Given the description of an element on the screen output the (x, y) to click on. 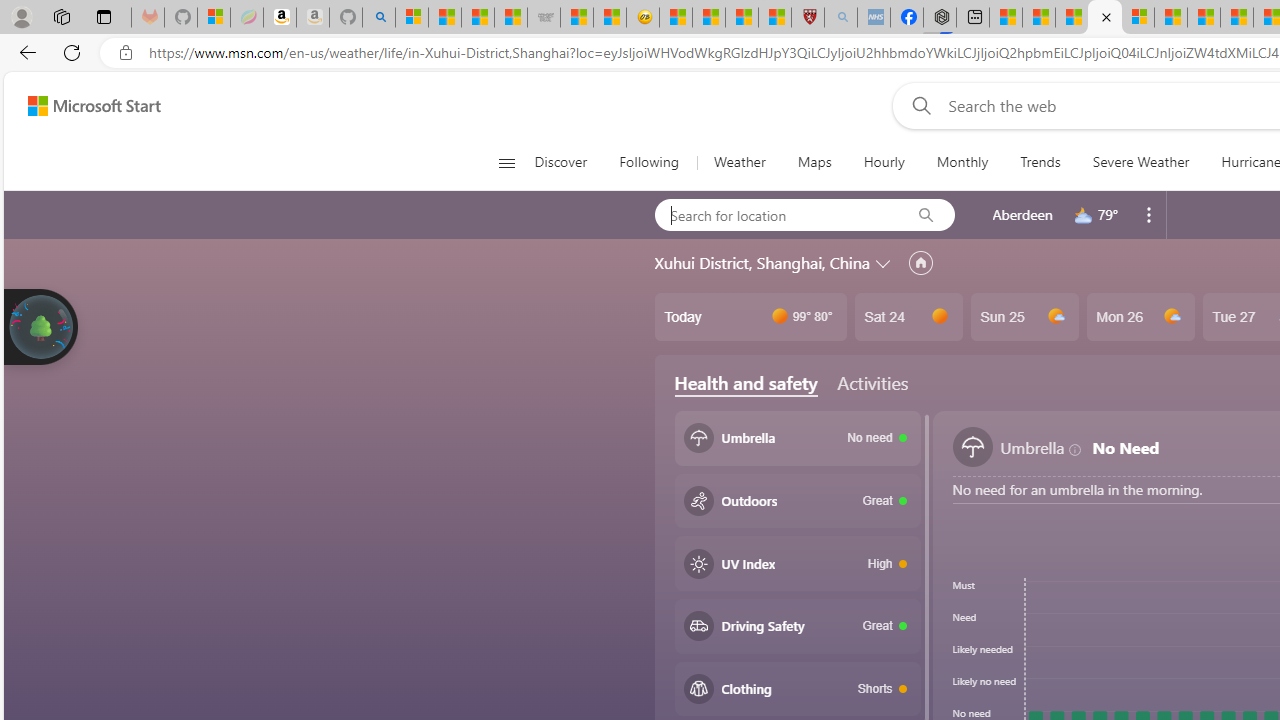
Mon 26 (1140, 317)
Join us in planting real trees to help our planet! (40, 327)
Health and safety (745, 383)
Activities (872, 382)
Change location (884, 262)
Sat 24 (907, 317)
Sun 25 (1024, 317)
Remove location (1149, 214)
